Given the description of an element on the screen output the (x, y) to click on. 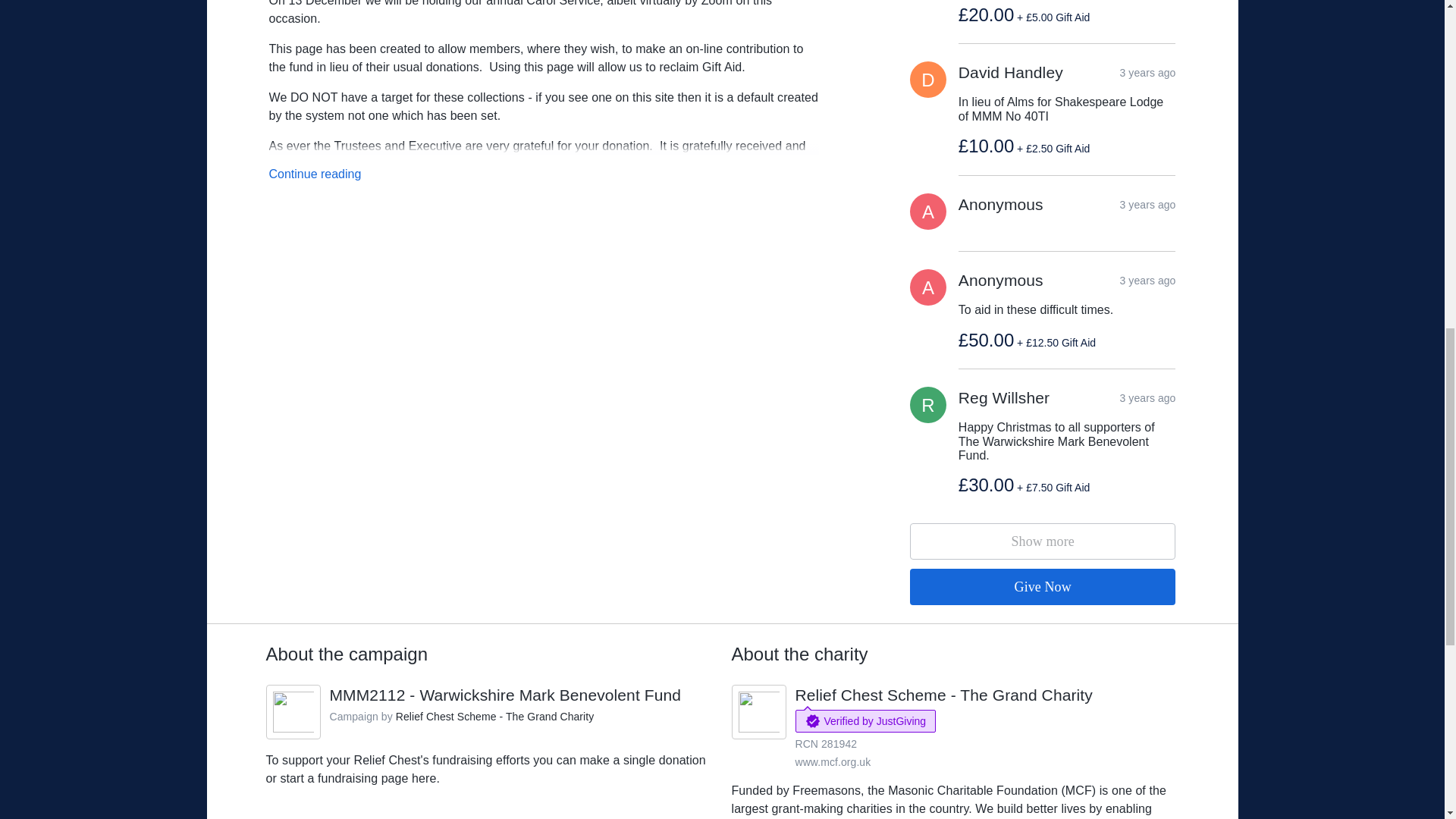
A (928, 287)
Relief Chest Scheme - The Grand Charity (495, 716)
D (928, 79)
Continue reading (314, 173)
R (928, 404)
Relief Chest Scheme - The Grand Charity (943, 694)
MMM2112 - Warwickshire Mark Benevolent Fund (1043, 541)
A (505, 694)
www.mcf.org.uk (928, 211)
Give Now (832, 761)
